Given the description of an element on the screen output the (x, y) to click on. 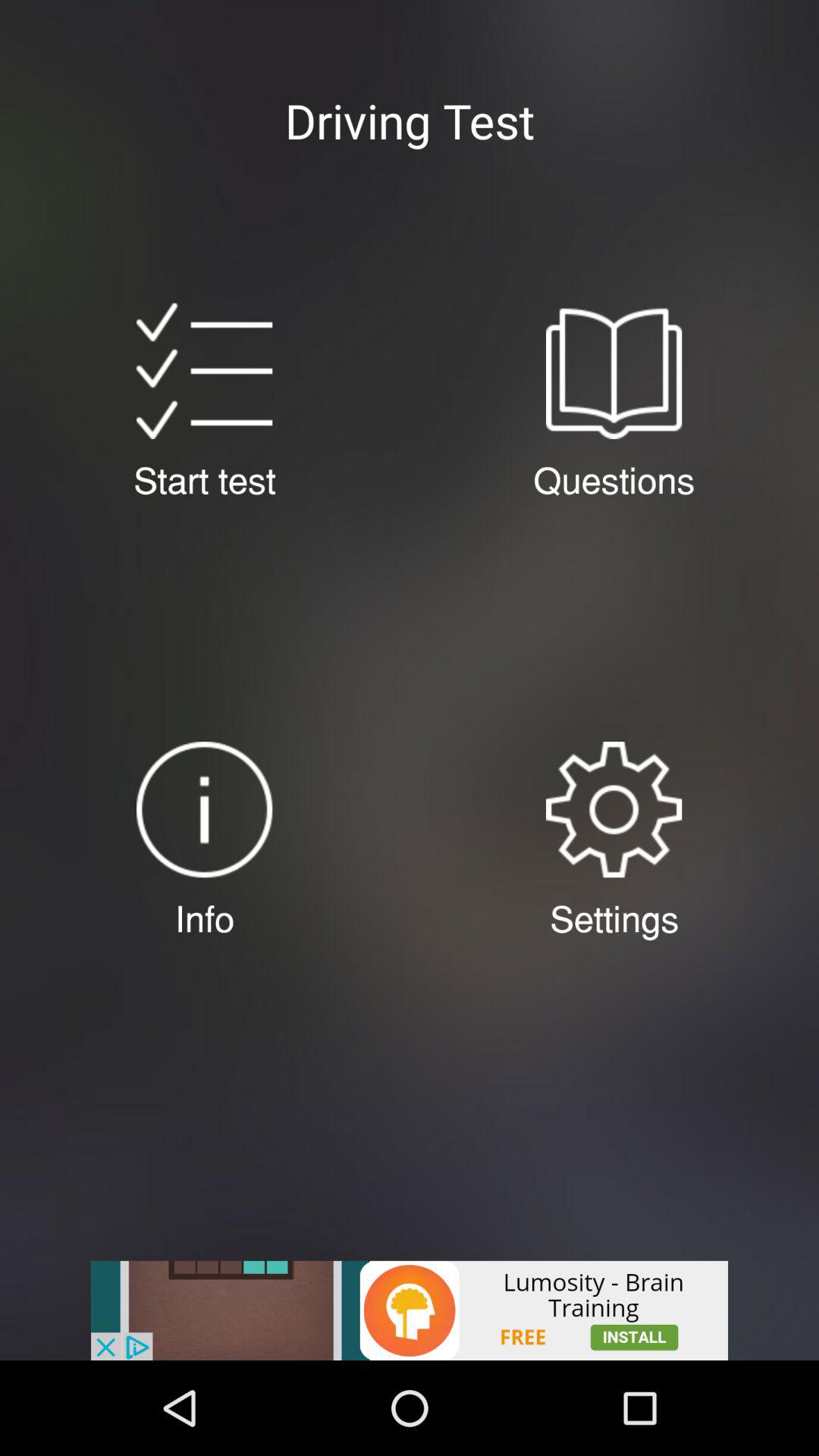
click to the more information (204, 809)
